Given the description of an element on the screen output the (x, y) to click on. 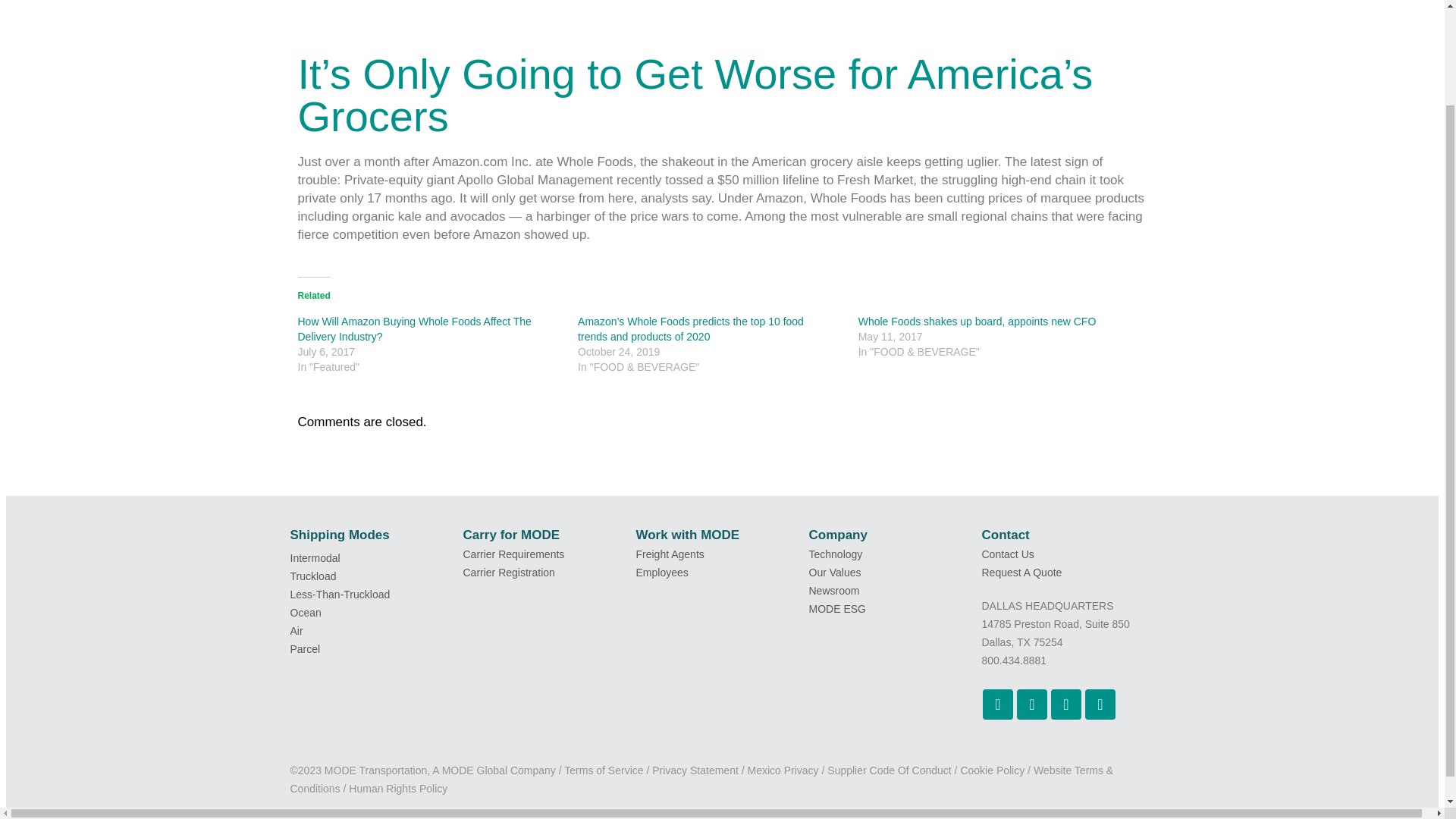
Whole Foods shakes up board, appoints new CFO (814, 3)
